Given the description of an element on the screen output the (x, y) to click on. 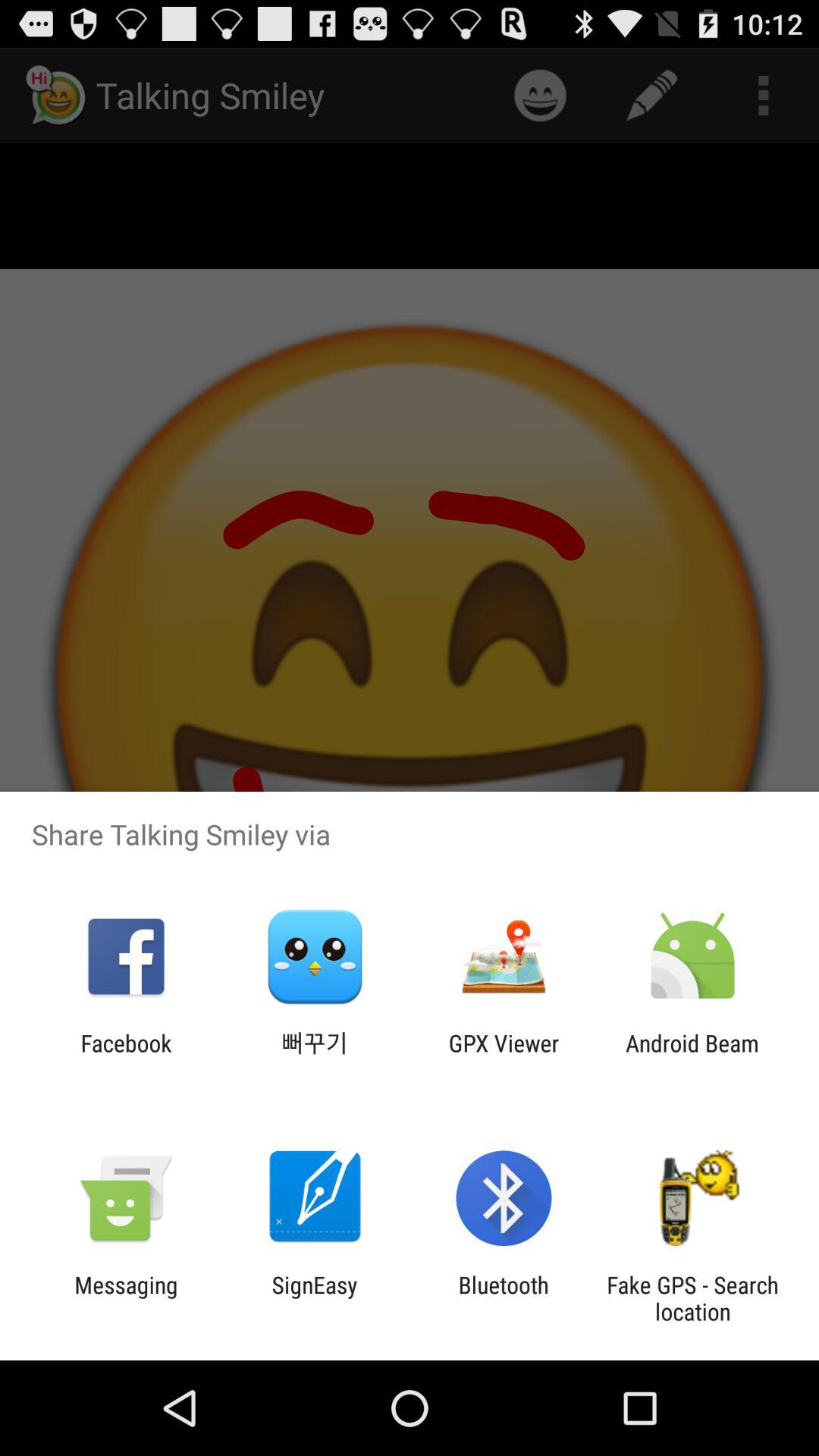
press item next to signeasy app (503, 1298)
